Given the description of an element on the screen output the (x, y) to click on. 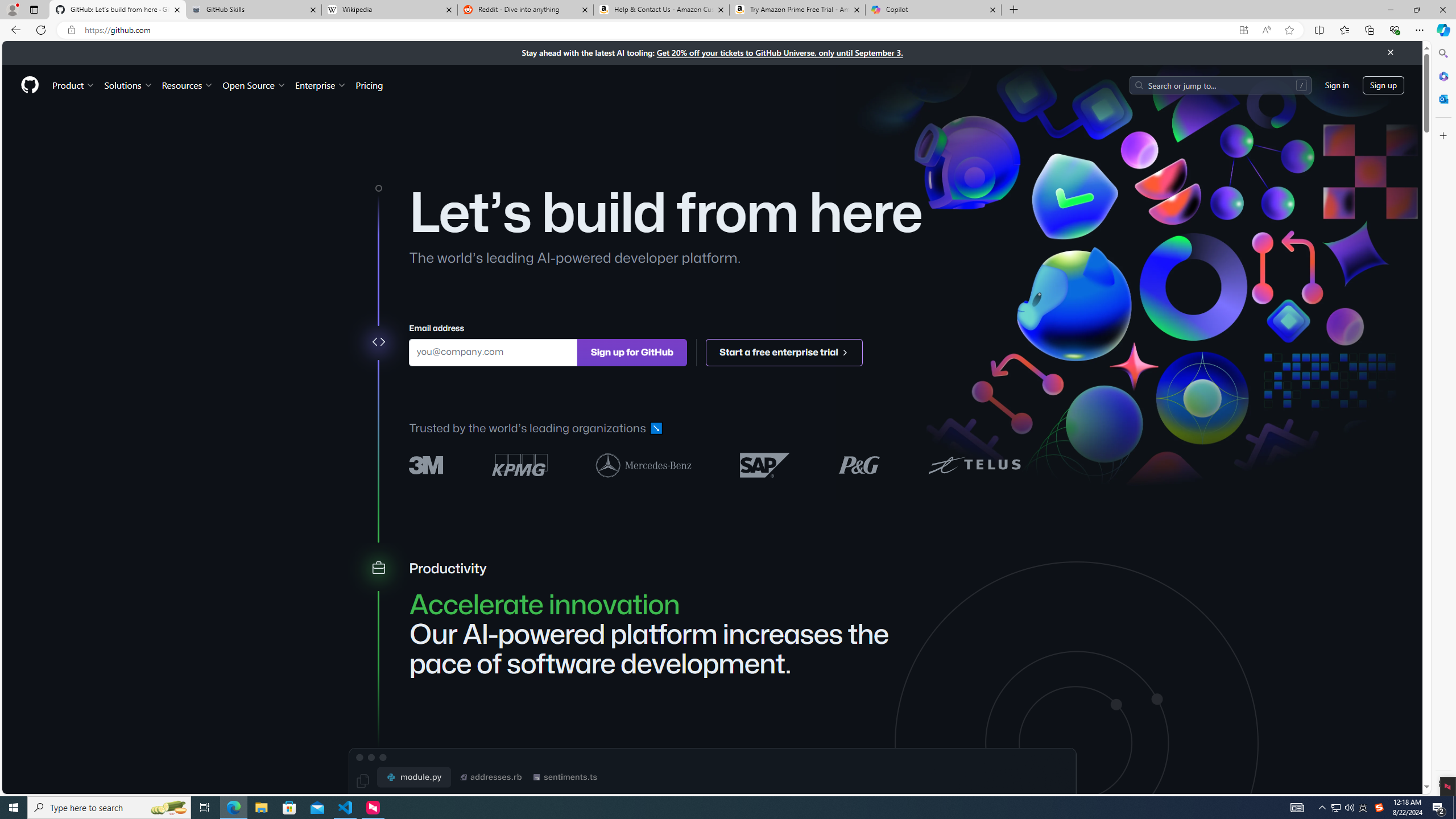
Resources (187, 84)
Enterprise (319, 84)
Microsoft 365 (1442, 76)
Telus logo (973, 464)
P&G logo (858, 464)
Solutions (128, 84)
Open Source (254, 84)
Close (1390, 52)
Read aloud this page (Ctrl+Shift+U) (1266, 29)
Split screen (1318, 29)
Side bar (1443, 418)
Enterprise (319, 84)
Add this page to favorites (Ctrl+D) (1289, 29)
Browser essentials (1394, 29)
Copilot (Ctrl+Shift+.) (1442, 29)
